Given the description of an element on the screen output the (x, y) to click on. 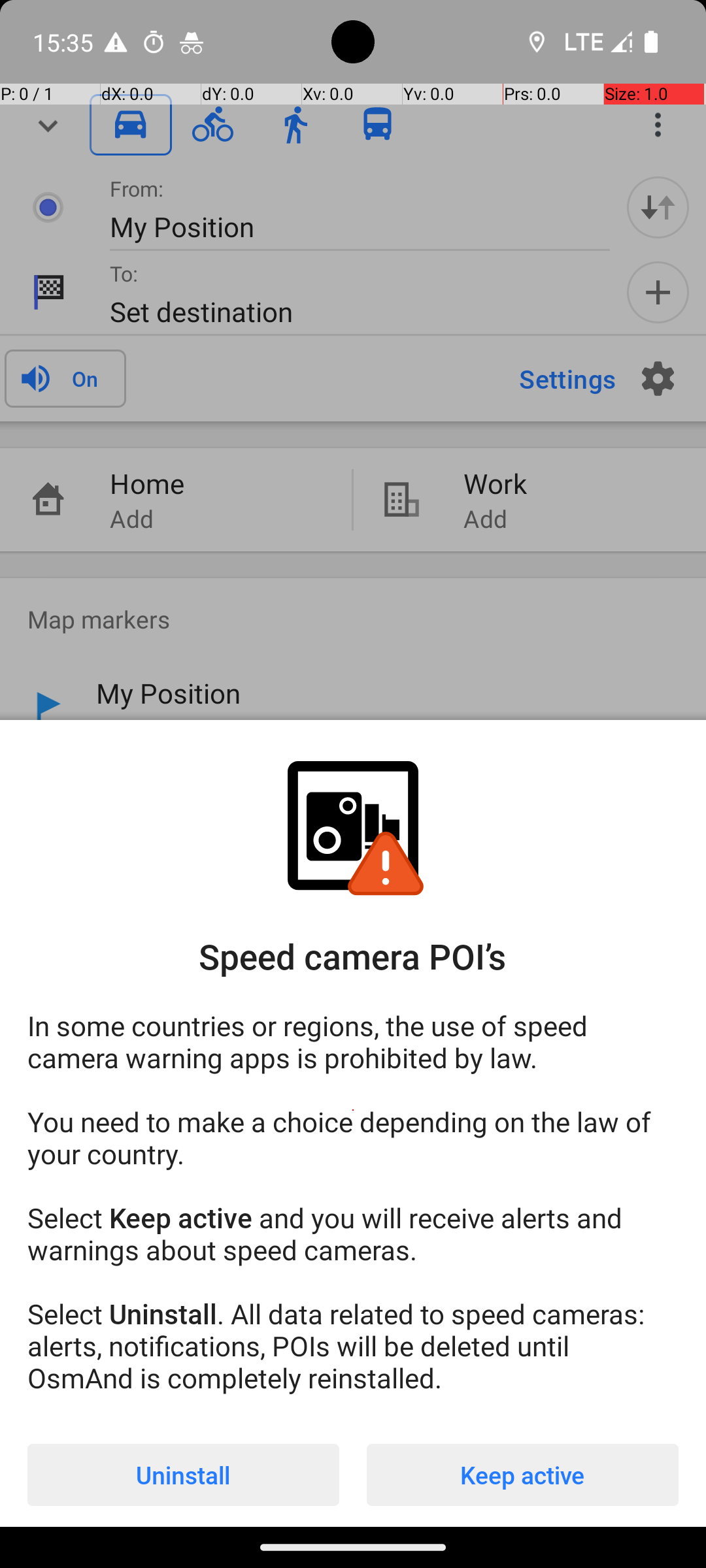
Close the dialog Element type: android.view.View (353, 388)
